Given the description of an element on the screen output the (x, y) to click on. 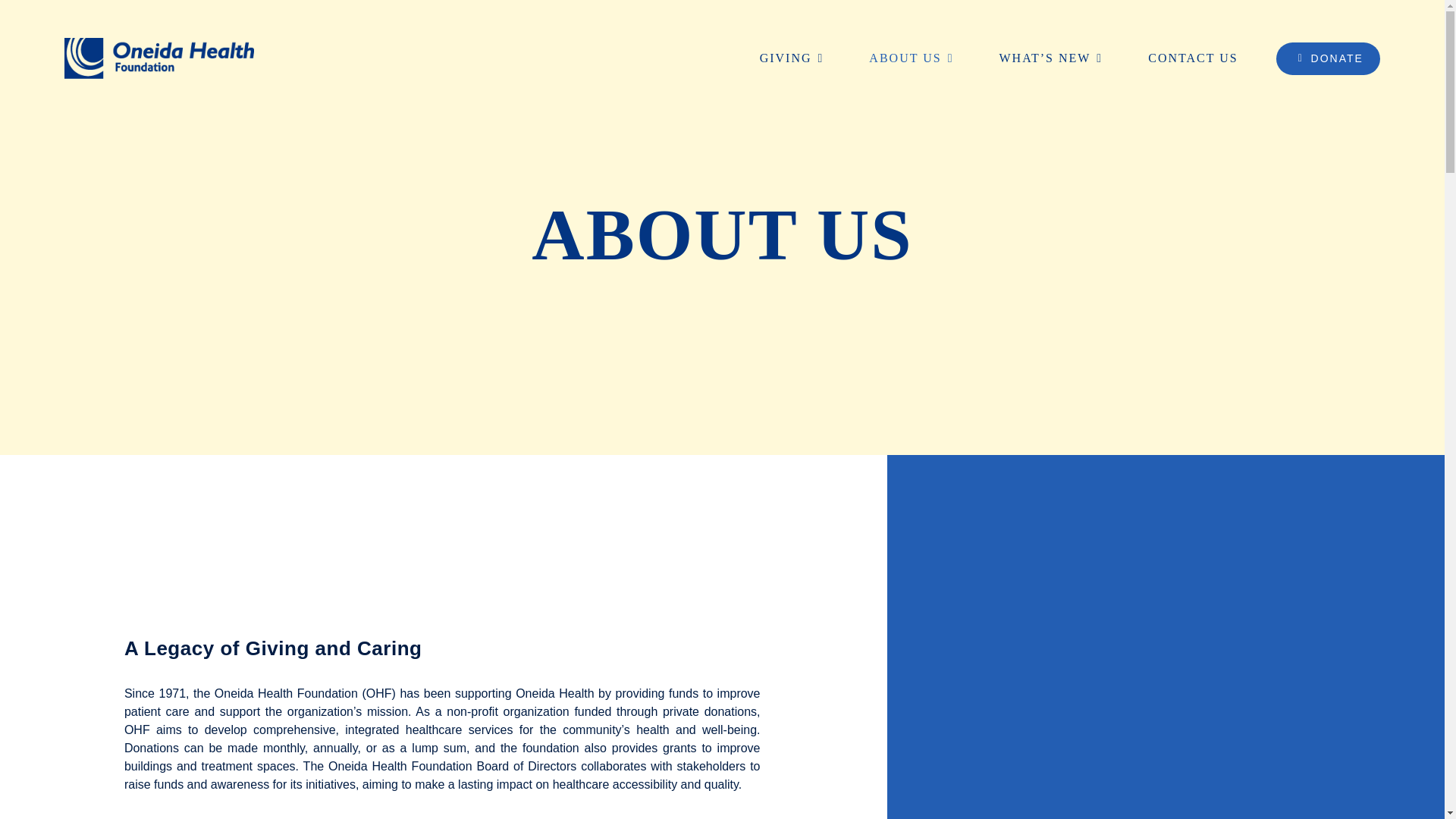
donate (1328, 58)
CONTACT US (1192, 58)
ABOUT US (911, 58)
DONATE (1328, 58)
GIVING (792, 58)
